Given the description of an element on the screen output the (x, y) to click on. 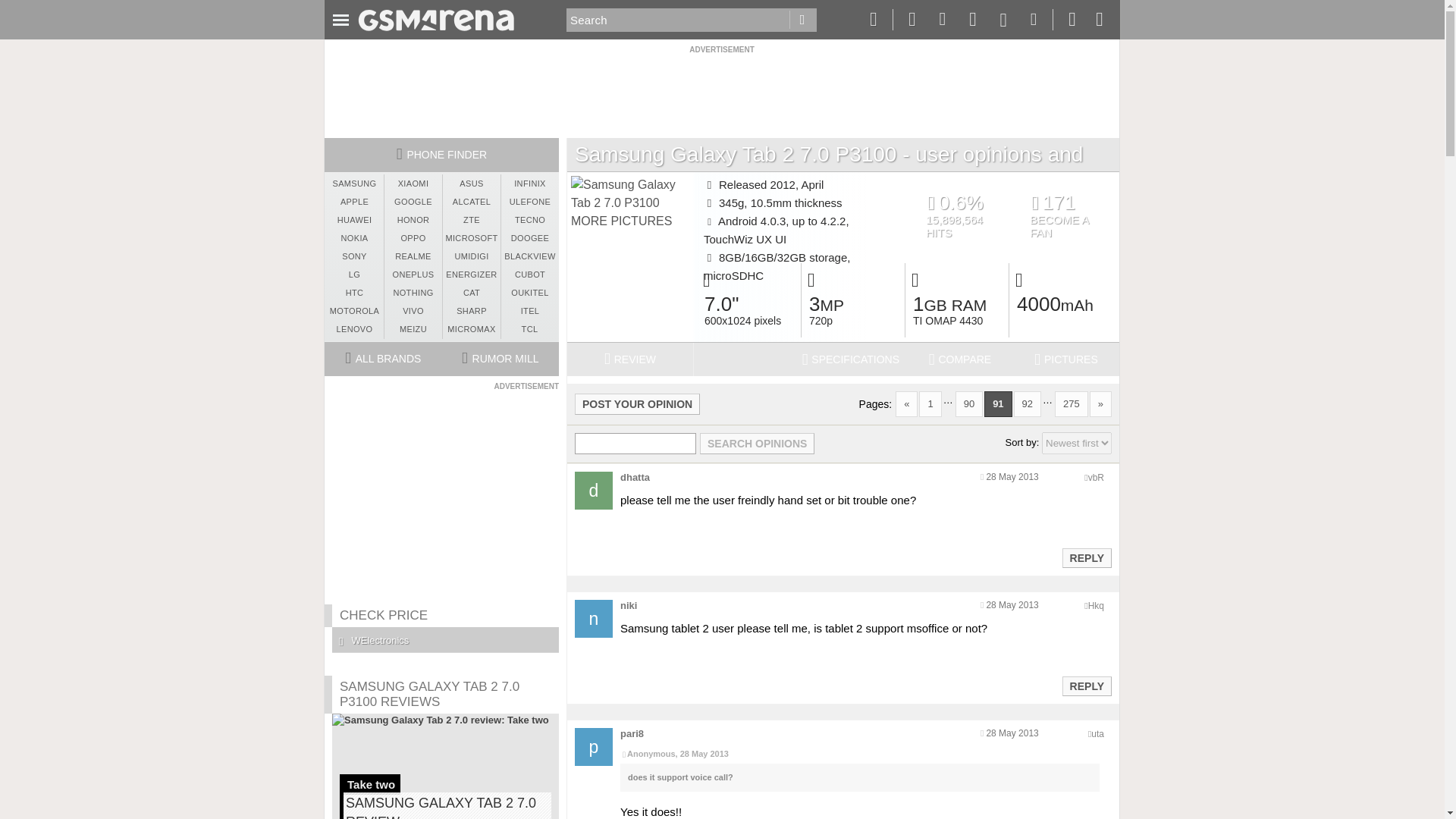
POST YOUR OPINION (637, 403)
PICTURES (1066, 359)
92 (1027, 403)
Encoded anonymized location (1096, 733)
Next page (1100, 403)
COMPARE (960, 359)
Search opinions (756, 443)
Sort comments by (1077, 443)
Search opinions (756, 443)
Go (802, 19)
1 (929, 403)
Encoded anonymized location (1095, 605)
90 (968, 403)
Previous page (906, 403)
